Given the description of an element on the screen output the (x, y) to click on. 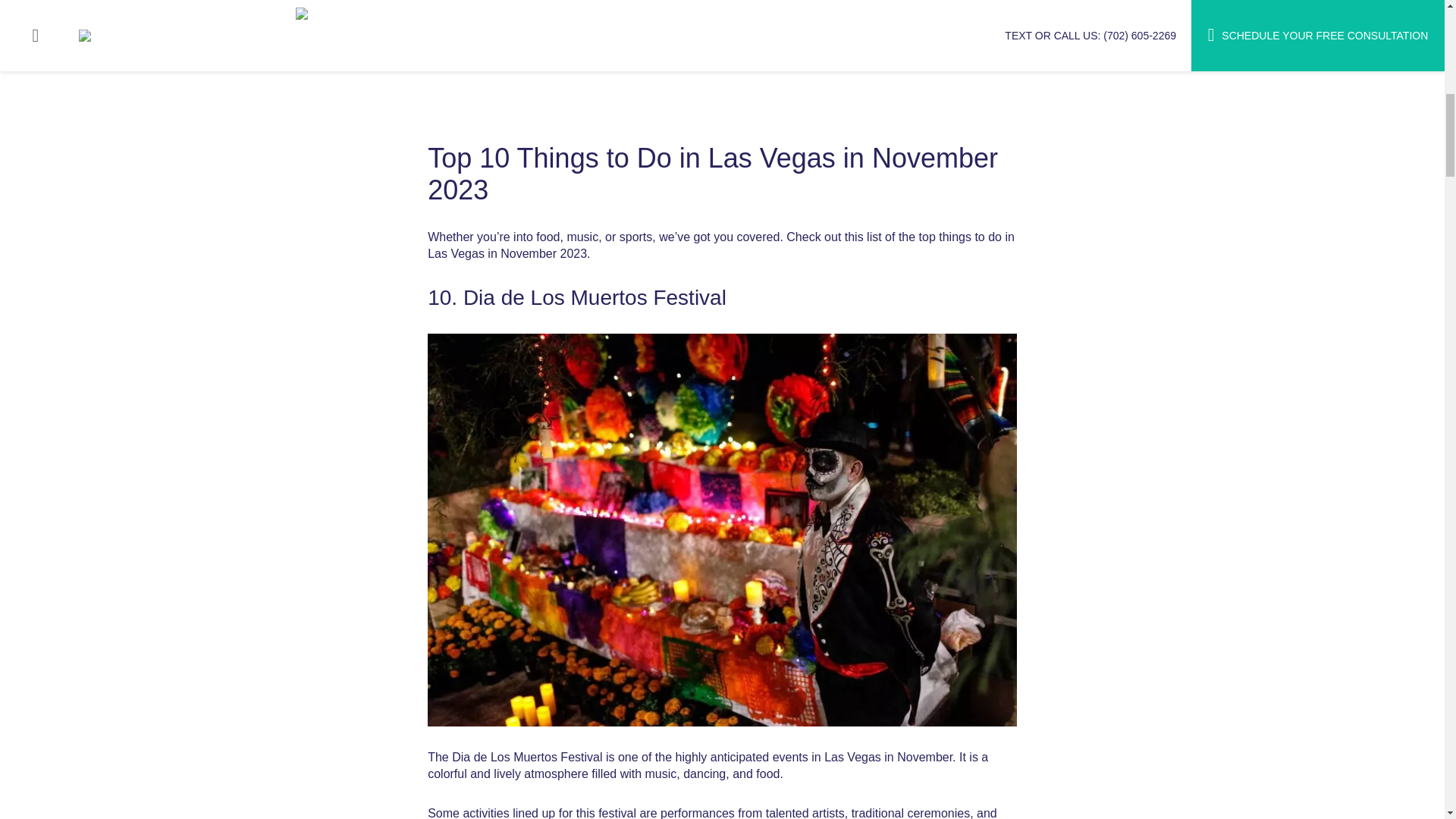
YouTube player (610, 69)
